Given the description of an element on the screen output the (x, y) to click on. 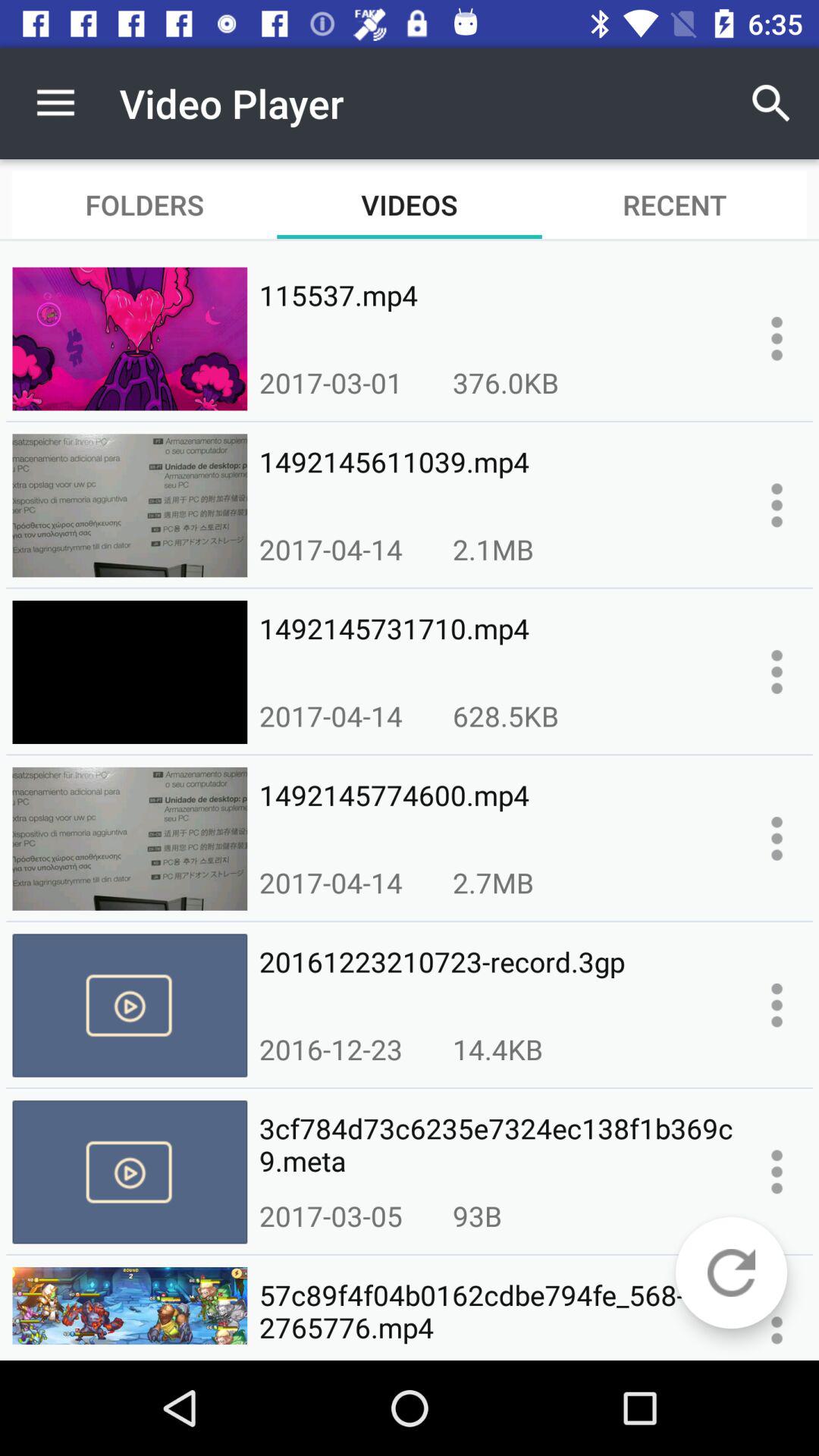
options (776, 1322)
